Given the description of an element on the screen output the (x, y) to click on. 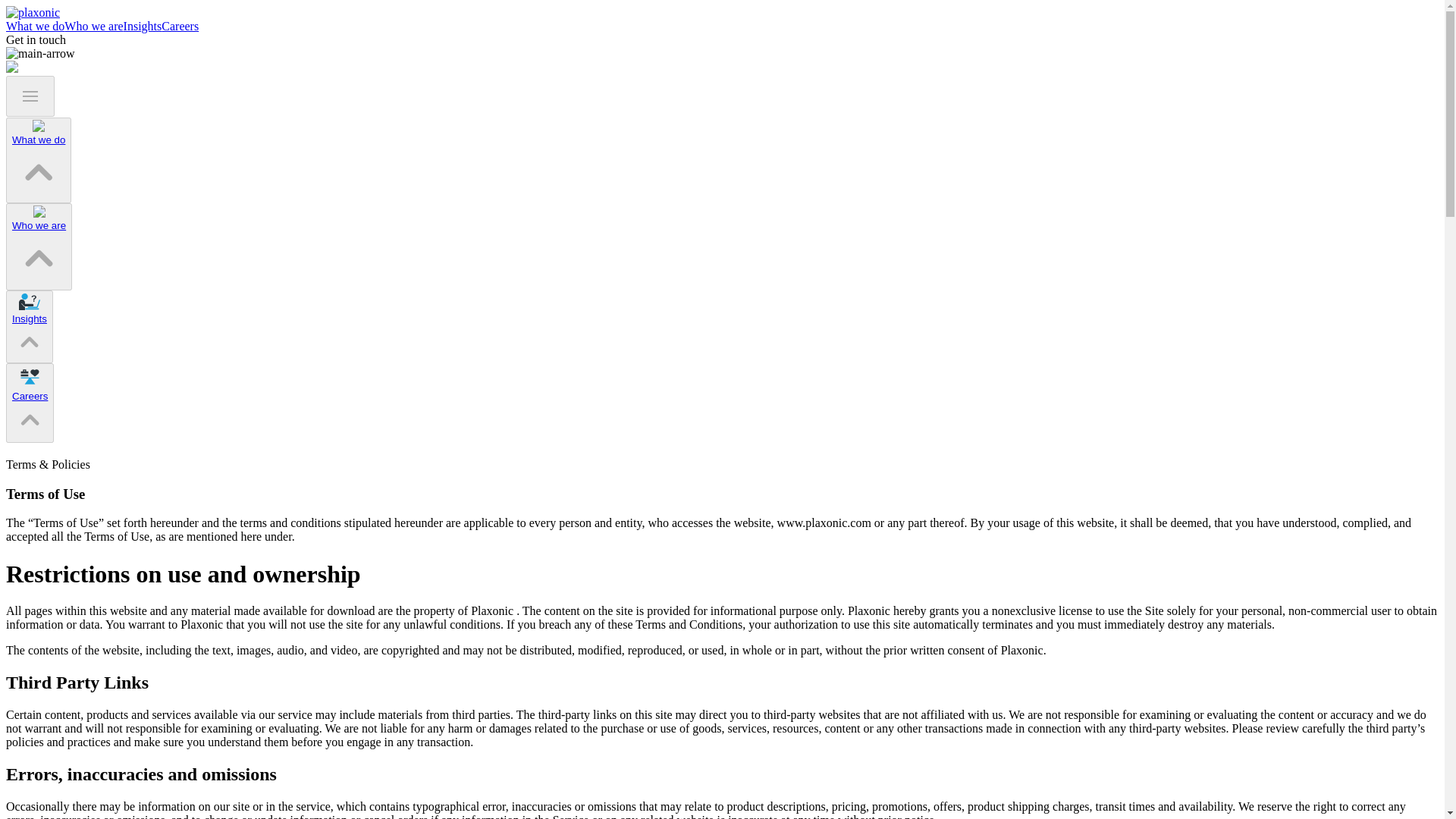
Careers (179, 25)
What we do (34, 25)
Insights (28, 318)
Careers (29, 396)
What we do (38, 139)
Who we are (93, 25)
Insights (142, 25)
Who we are (38, 225)
